Given the description of an element on the screen output the (x, y) to click on. 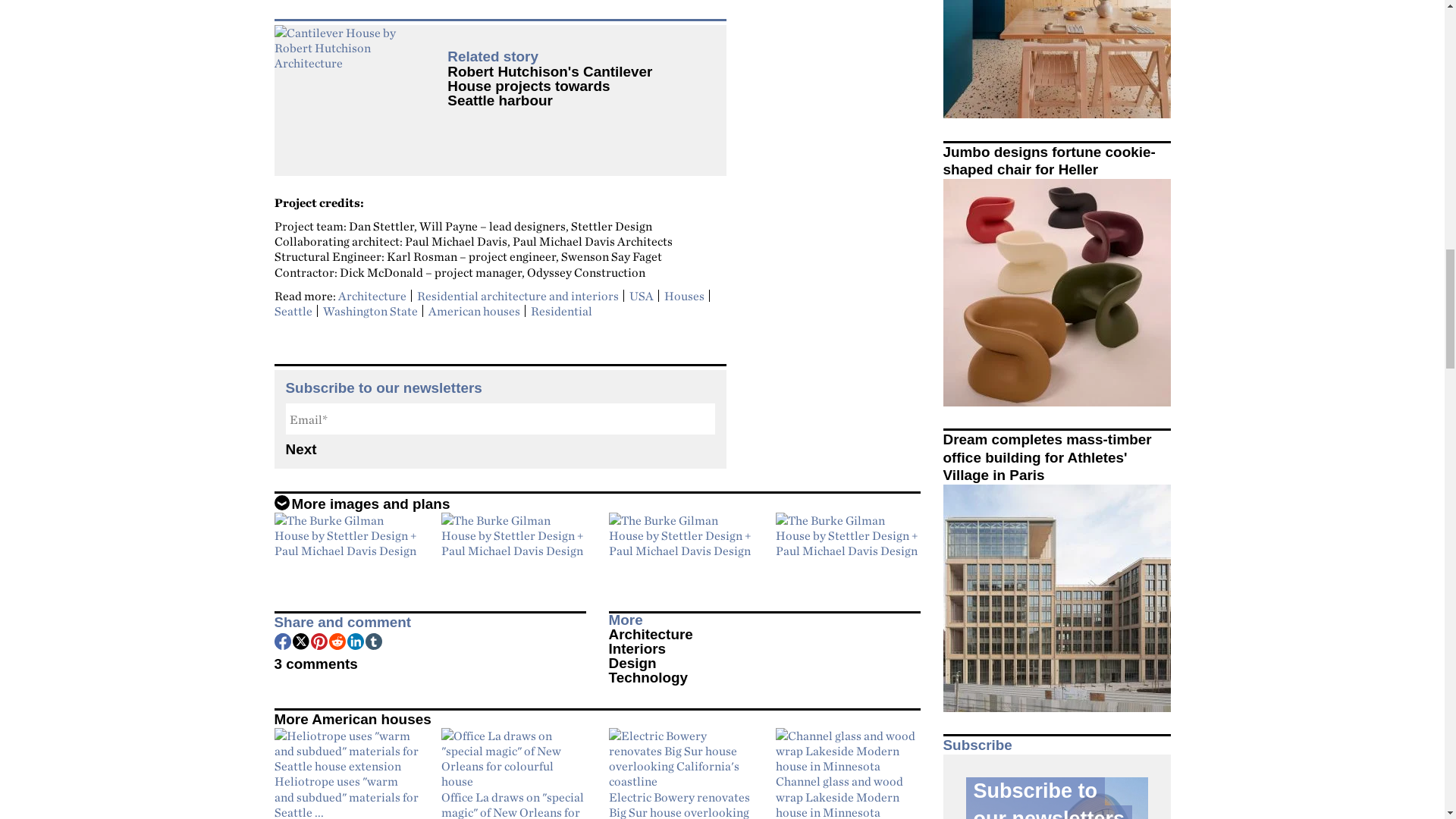
Next (499, 450)
